Given the description of an element on the screen output the (x, y) to click on. 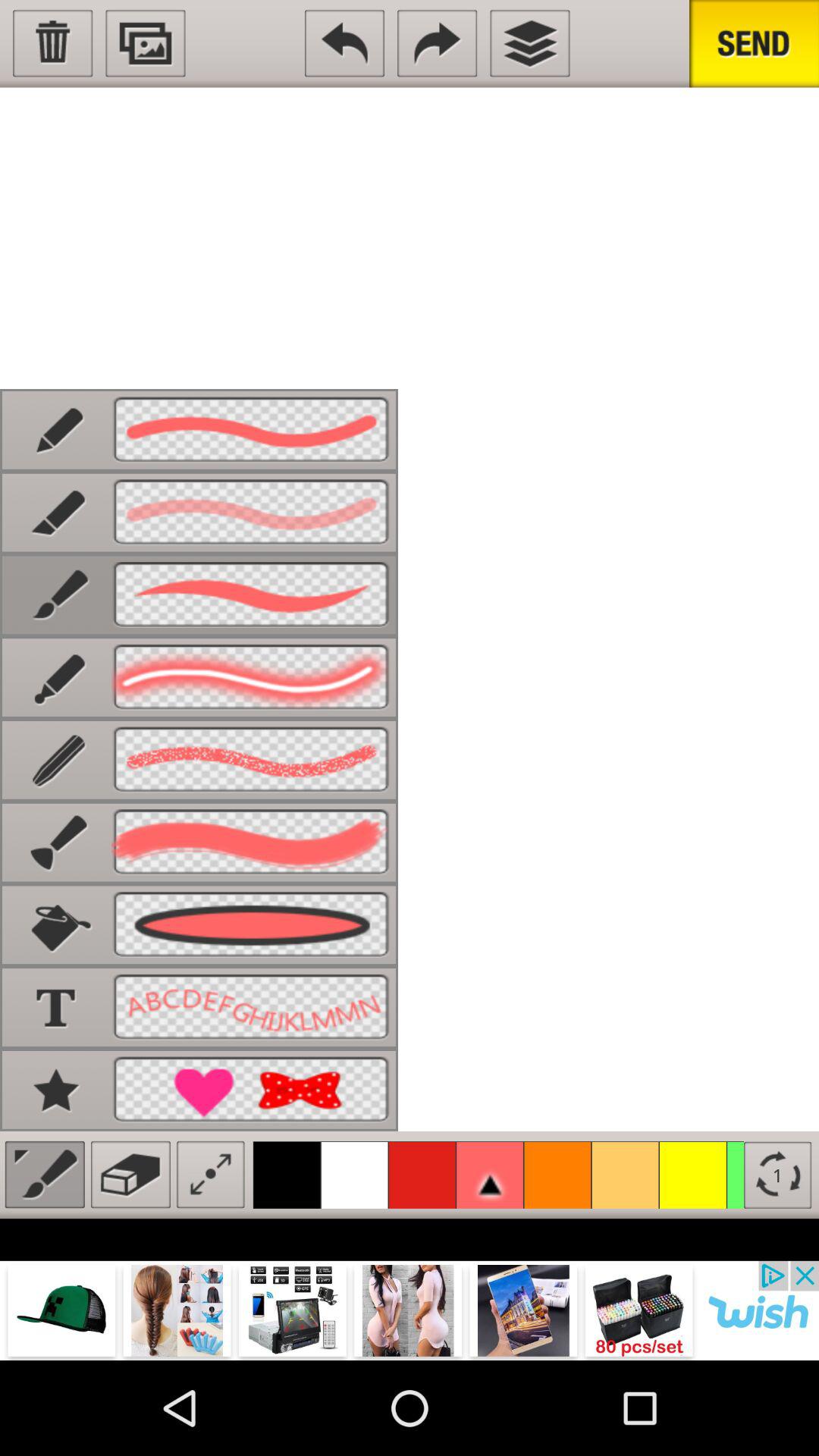
check other windows (529, 43)
